Given the description of an element on the screen output the (x, y) to click on. 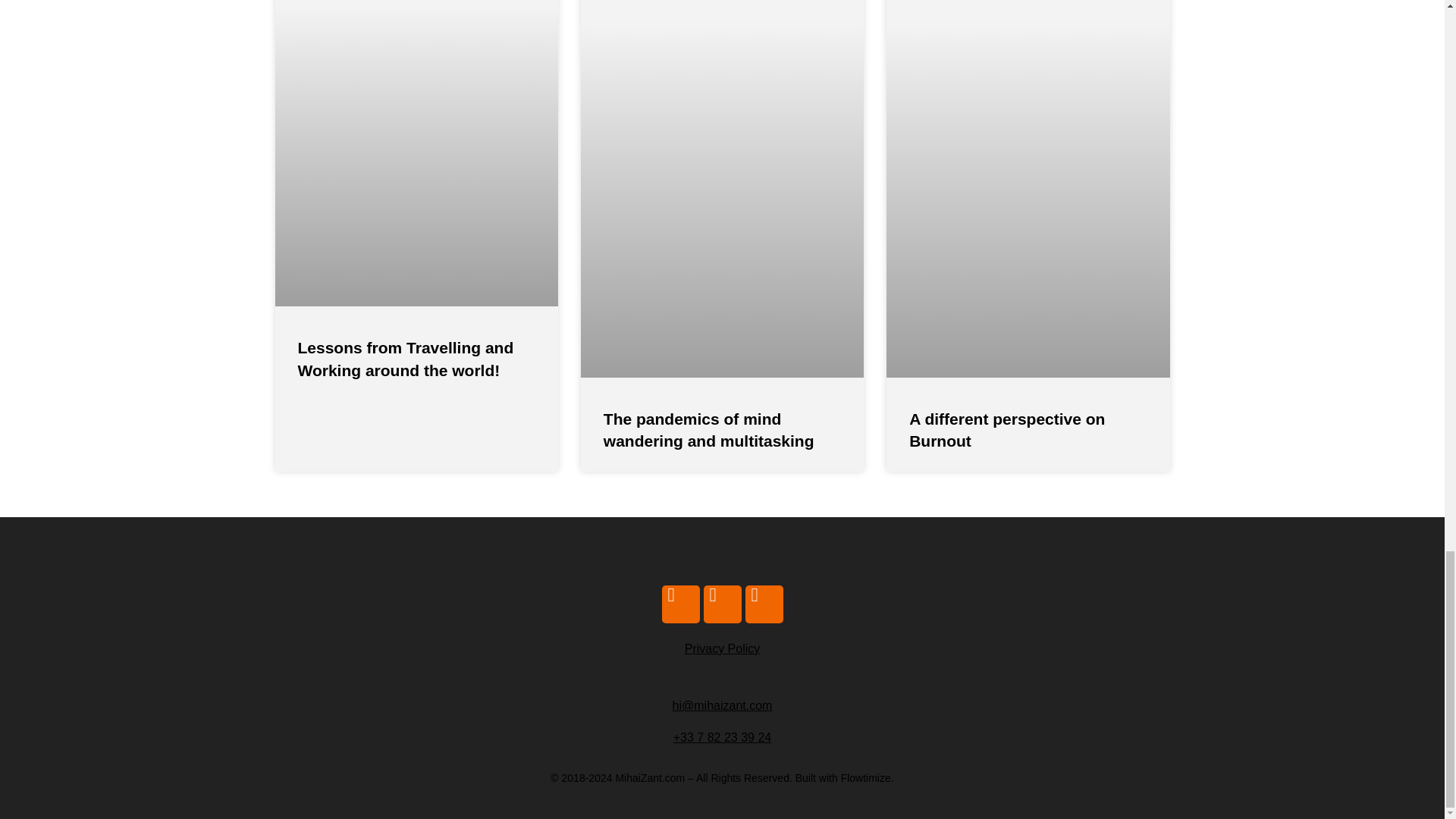
Flowtimize (866, 777)
Privacy Policy (722, 648)
Lessons from Travelling and Working around the world! (405, 358)
A different perspective on Burnout (1006, 429)
The pandemics of mind wandering and multitasking (708, 429)
